Given the description of an element on the screen output the (x, y) to click on. 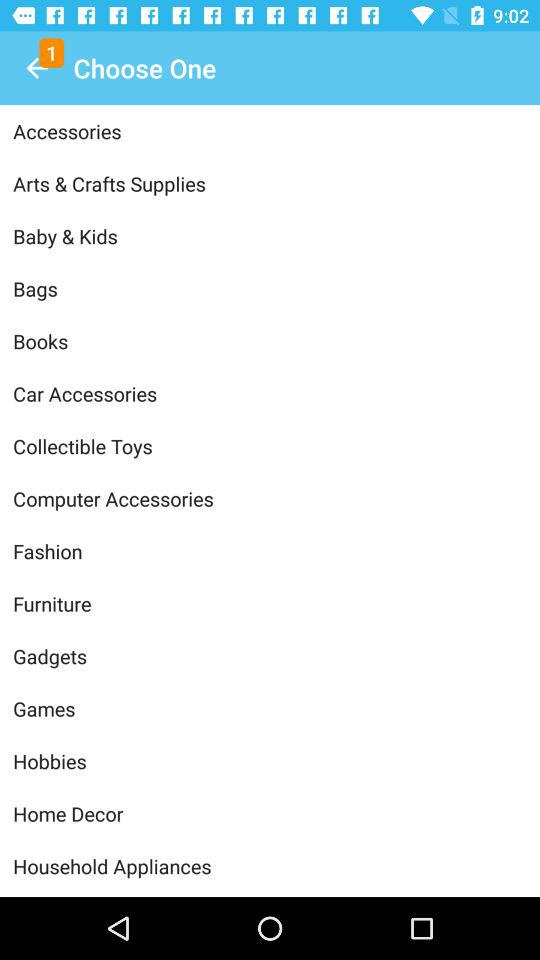
swipe until the books (269, 341)
